Given the description of an element on the screen output the (x, y) to click on. 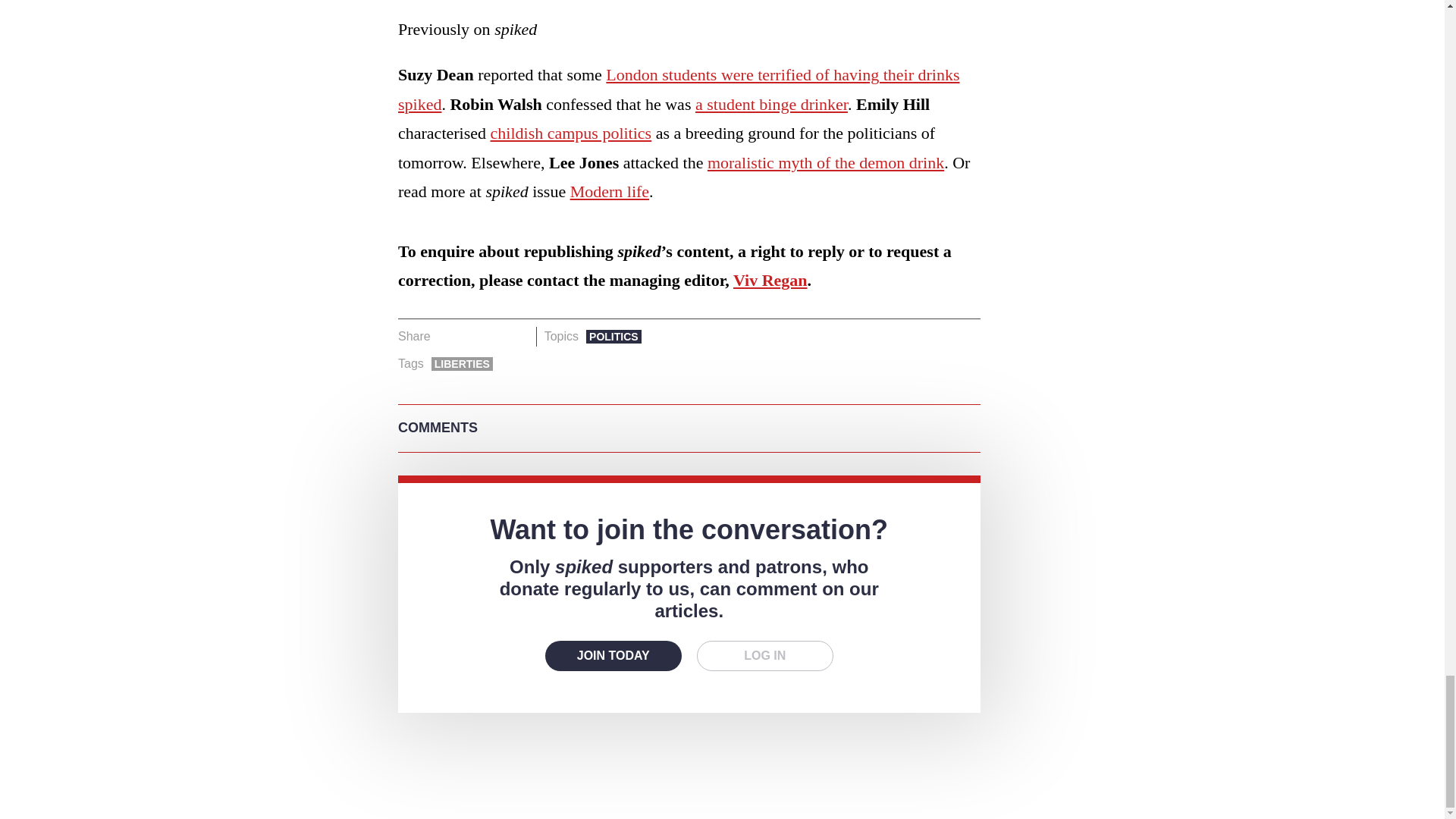
Share on Email (518, 336)
Share on Twitter (471, 336)
Share on Whatsapp (494, 336)
Share on Facebook (448, 336)
